Given the description of an element on the screen output the (x, y) to click on. 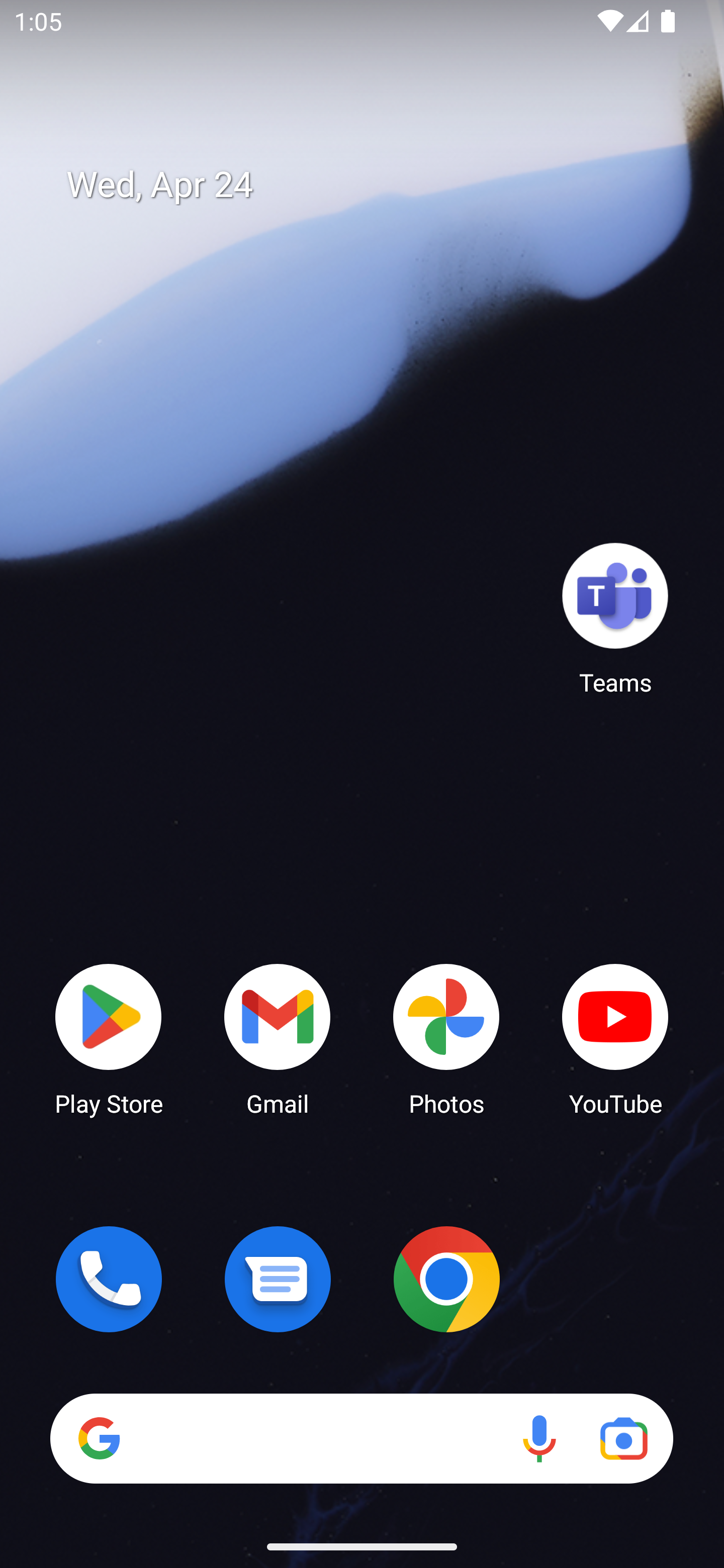
Wed, Apr 24 (375, 184)
Teams (615, 617)
Play Store (108, 1038)
Gmail (277, 1038)
Photos (445, 1038)
YouTube (615, 1038)
Phone (108, 1279)
Messages (277, 1279)
Chrome (446, 1279)
Search Voice search Google Lens (361, 1438)
Voice search (539, 1438)
Google Lens (623, 1438)
